Given the description of an element on the screen output the (x, y) to click on. 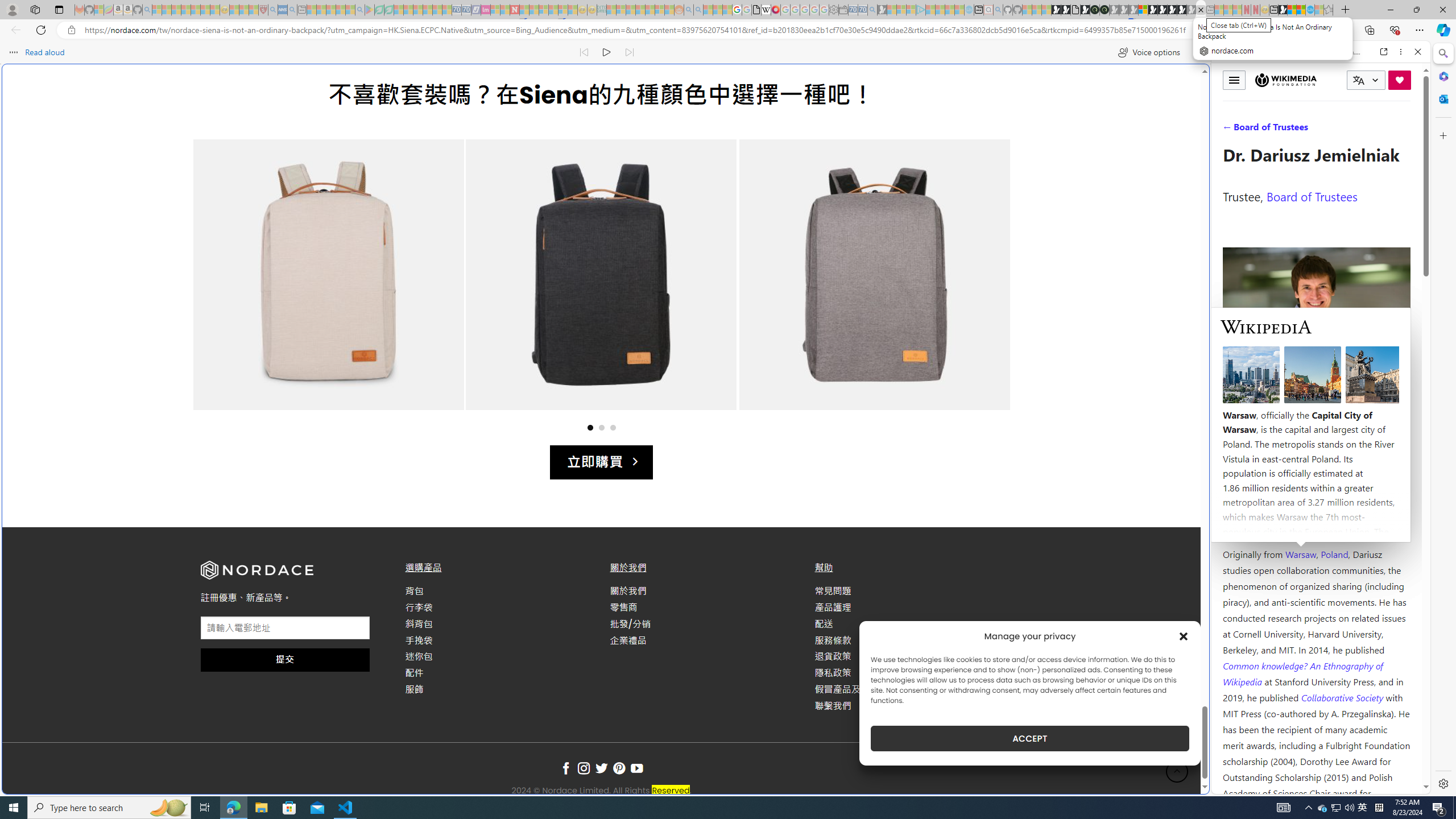
Class: flickity-button-icon (979, 285)
Follow on Pinterest (618, 768)
Class: cmplz-close (1183, 636)
Tabs you've opened (885, 151)
wikimediafoundation.org (1323, 51)
